Given the description of an element on the screen output the (x, y) to click on. 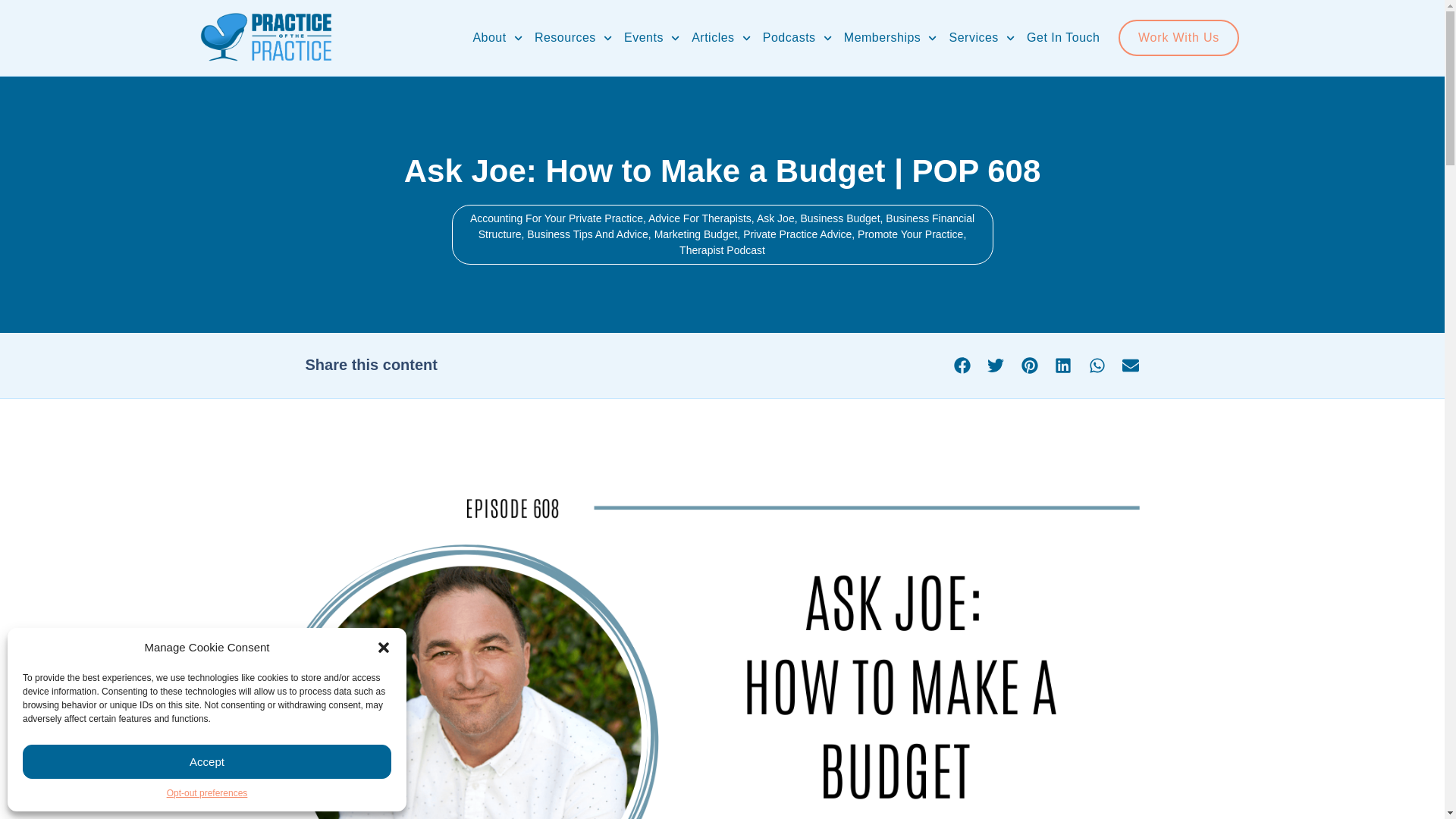
About (497, 37)
Events (652, 37)
Opt-out preferences (207, 793)
Podcasts (796, 37)
Articles (721, 37)
Accept (207, 761)
LiveChat chat widget (32, 787)
Resources (572, 37)
